Given the description of an element on the screen output the (x, y) to click on. 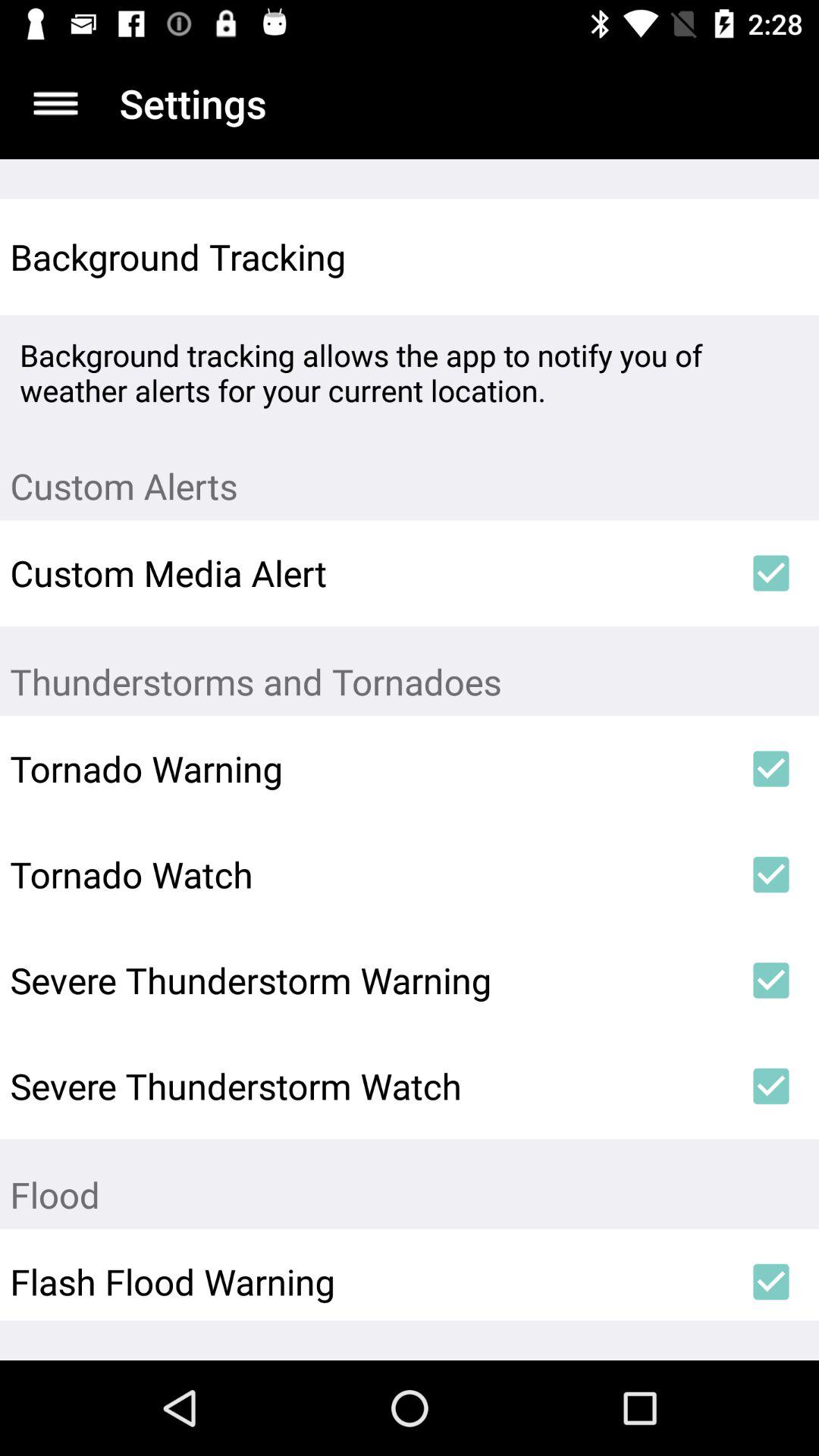
show the menu (55, 103)
